Given the description of an element on the screen output the (x, y) to click on. 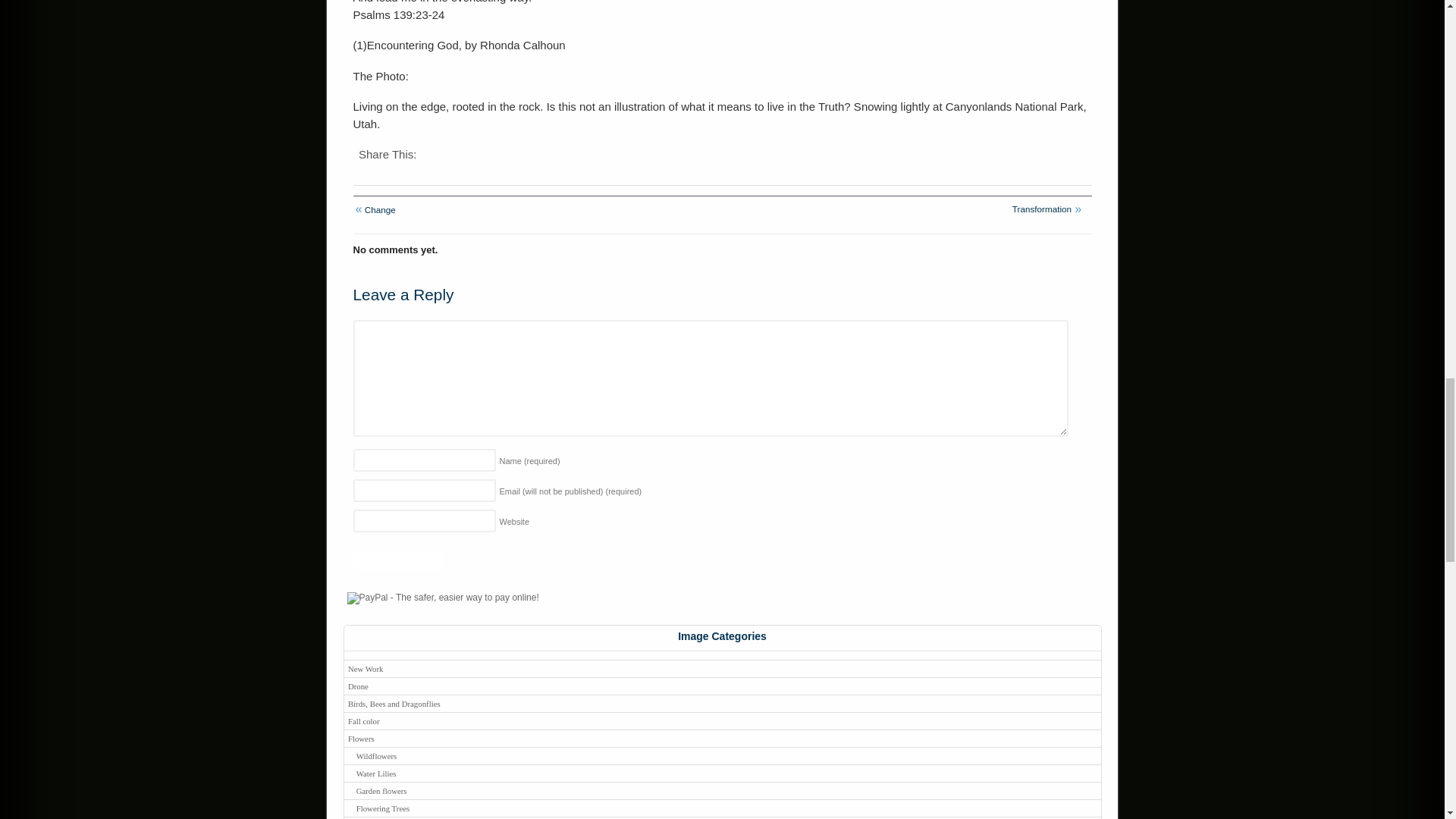
Submit Comment (397, 560)
Water Lilies (721, 773)
Transformation (1042, 208)
Garden flowers (721, 790)
Change (377, 209)
New Work (721, 668)
Submit Comment (397, 560)
Flowers (721, 737)
Drone (721, 685)
Birds, Bees and Dragonflies (721, 702)
Flowering Trees (721, 807)
Fall color (721, 720)
Wildflowers (721, 755)
